Given the description of an element on the screen output the (x, y) to click on. 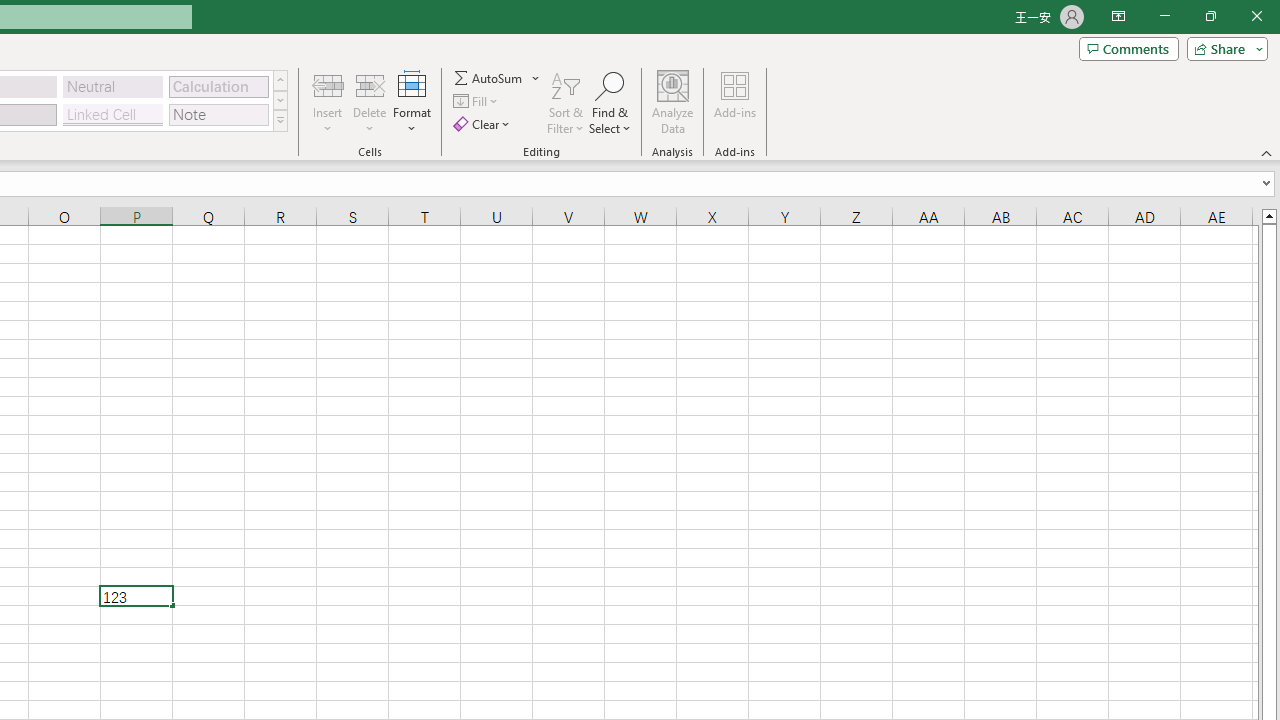
Fill (477, 101)
Share (1223, 48)
Ribbon Display Options (1118, 16)
Collapse the Ribbon (1267, 152)
More Options (536, 78)
Calculation (218, 86)
Comments (1128, 48)
Linked Cell (113, 114)
Note (218, 114)
Minimize (1164, 16)
Analyze Data (673, 102)
Delete Cells... (369, 84)
Line up (1268, 215)
Sum (489, 78)
AutoSum (497, 78)
